Given the description of an element on the screen output the (x, y) to click on. 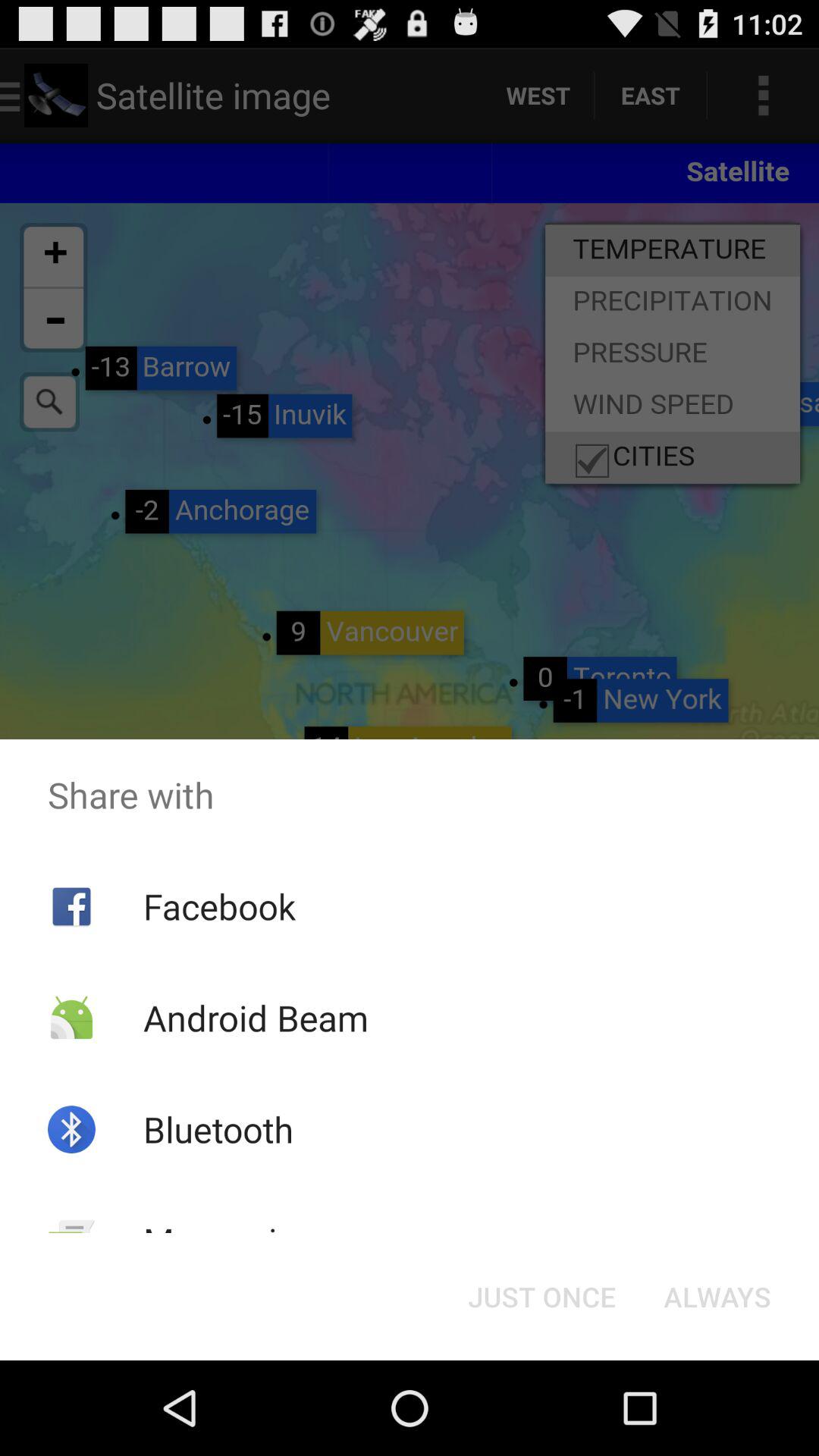
open button to the left of just once icon (229, 1240)
